Given the description of an element on the screen output the (x, y) to click on. 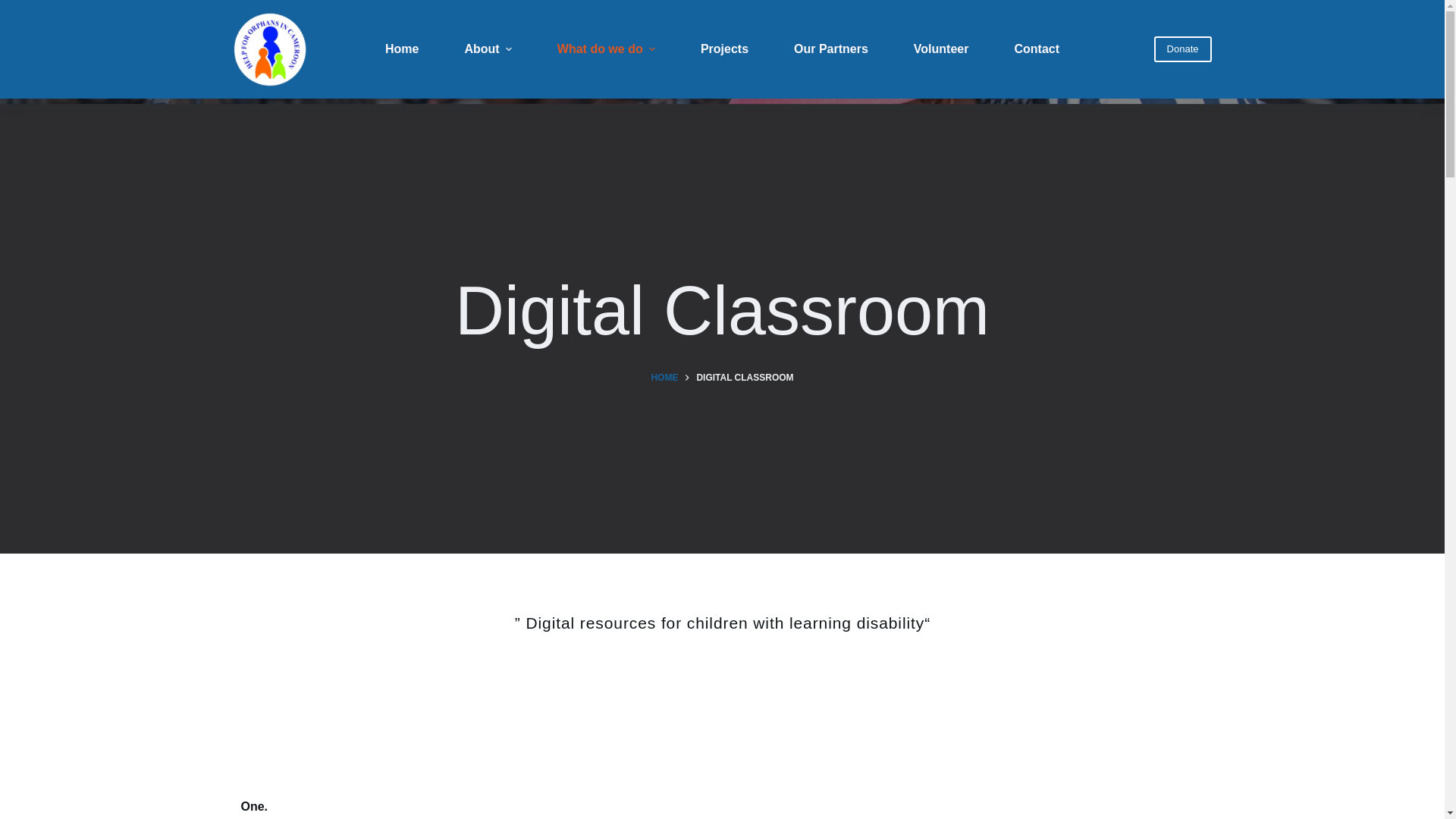
What do we do (606, 49)
Digital Classroom (722, 310)
Skip to content (15, 7)
About (487, 49)
Projects (724, 49)
